Given the description of an element on the screen output the (x, y) to click on. 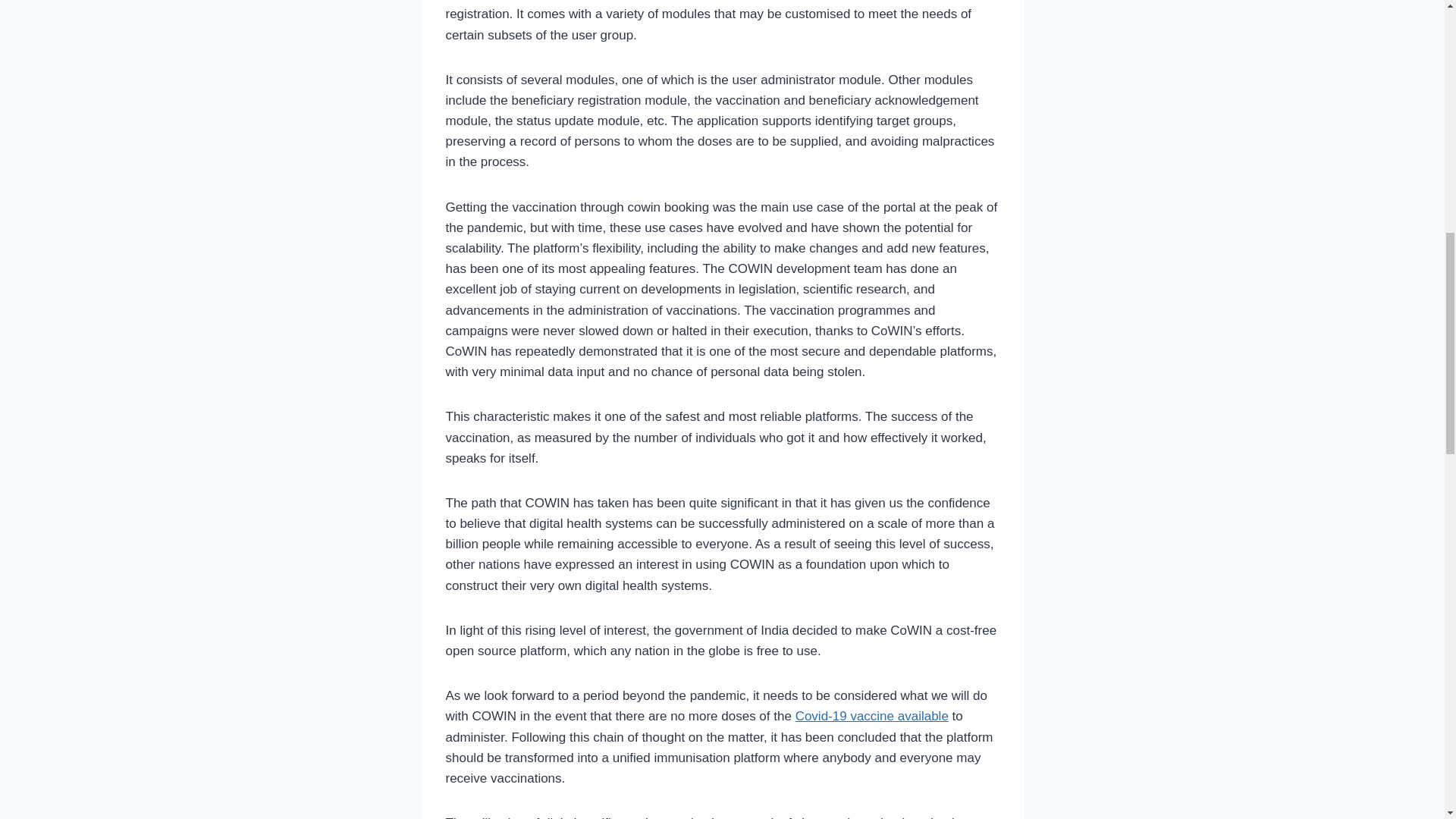
Covid-19 vaccine available (871, 716)
